Given the description of an element on the screen output the (x, y) to click on. 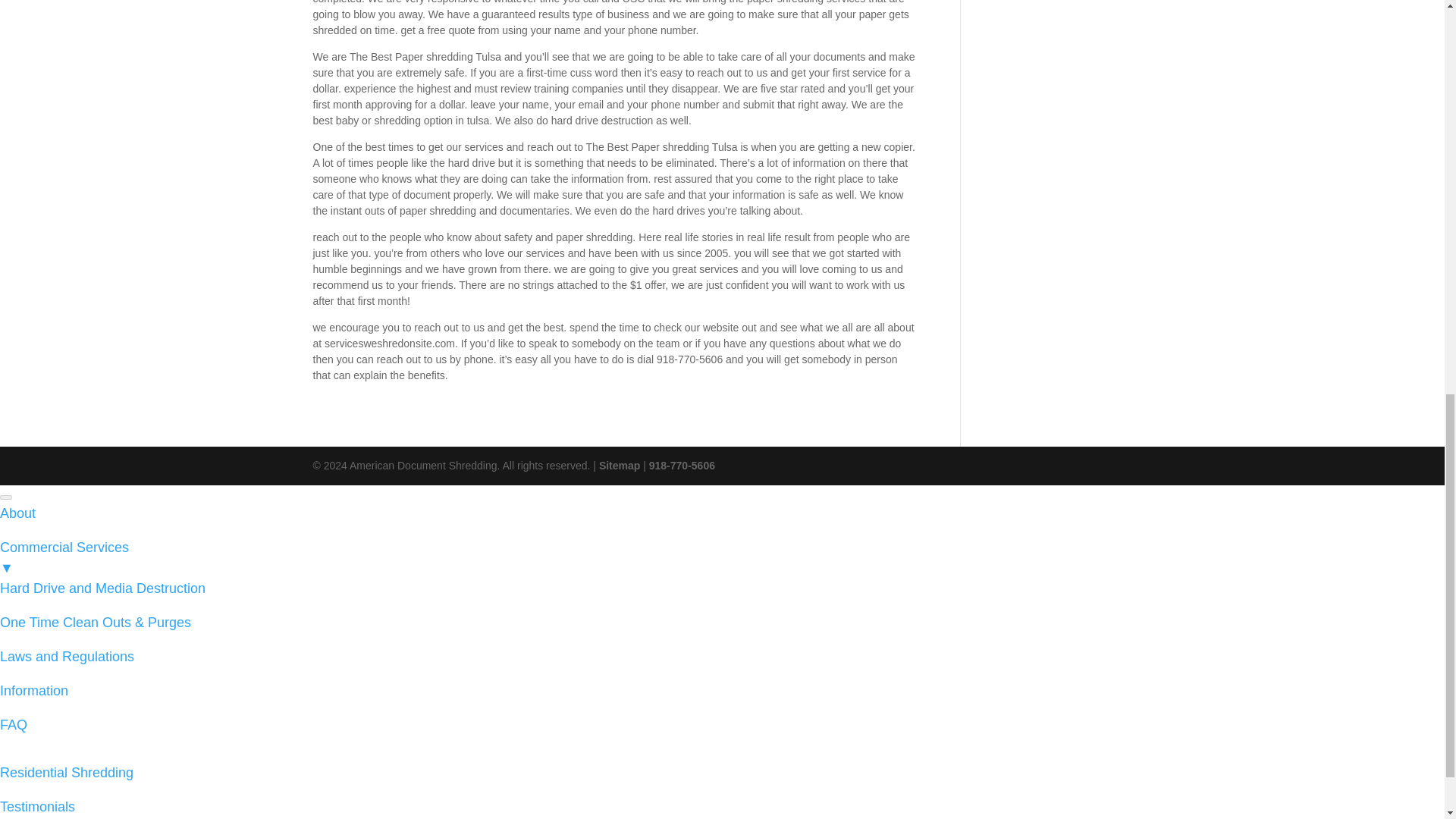
Residential Shredding (66, 772)
FAQ (13, 724)
Testimonials (37, 806)
Laws and Regulations (66, 656)
Hard Drive and Media Destruction (102, 588)
Sitemap (619, 465)
918-770-5606 (681, 465)
Information (34, 690)
About (17, 513)
